Given the description of an element on the screen output the (x, y) to click on. 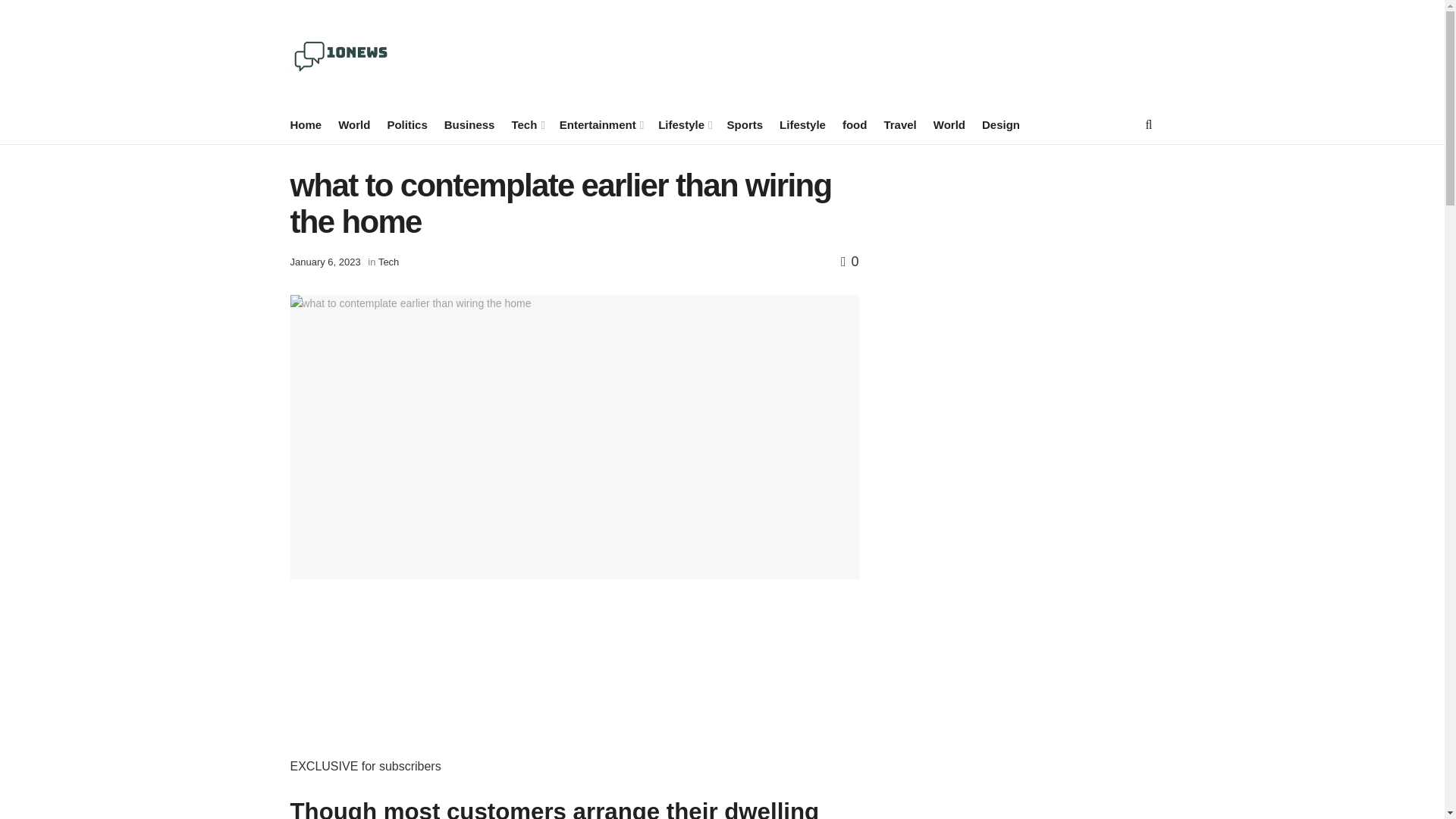
Politics (406, 124)
Tech (526, 124)
World (353, 124)
Home (305, 124)
Entertainment (600, 124)
Business (469, 124)
